Given the description of an element on the screen output the (x, y) to click on. 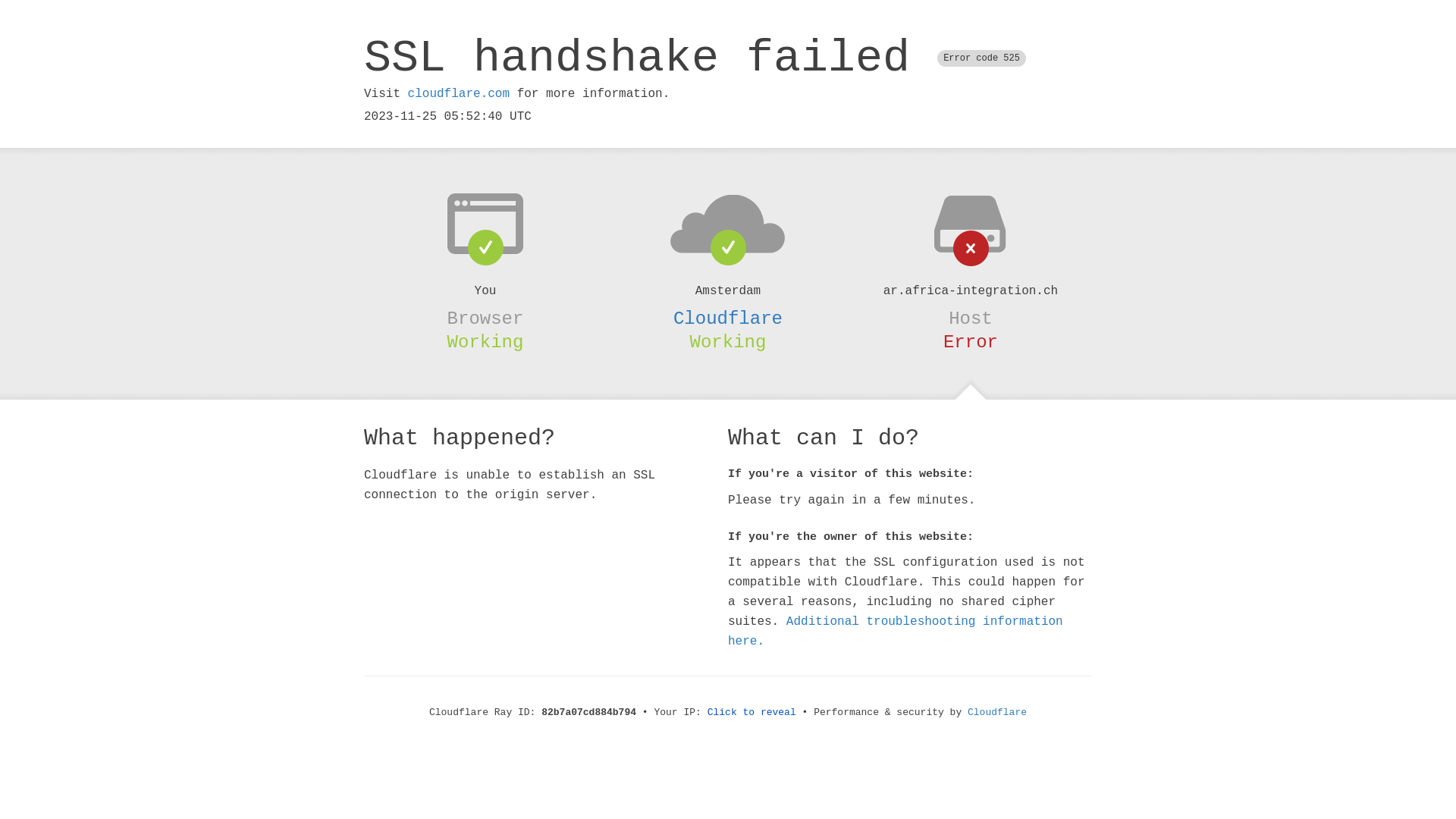
Additional troubleshooting information here. Element type: text (895, 631)
Click to reveal Element type: text (751, 712)
Cloudflare Element type: text (727, 318)
cloudflare.com Element type: text (458, 93)
Cloudflare Element type: text (996, 712)
